Given the description of an element on the screen output the (x, y) to click on. 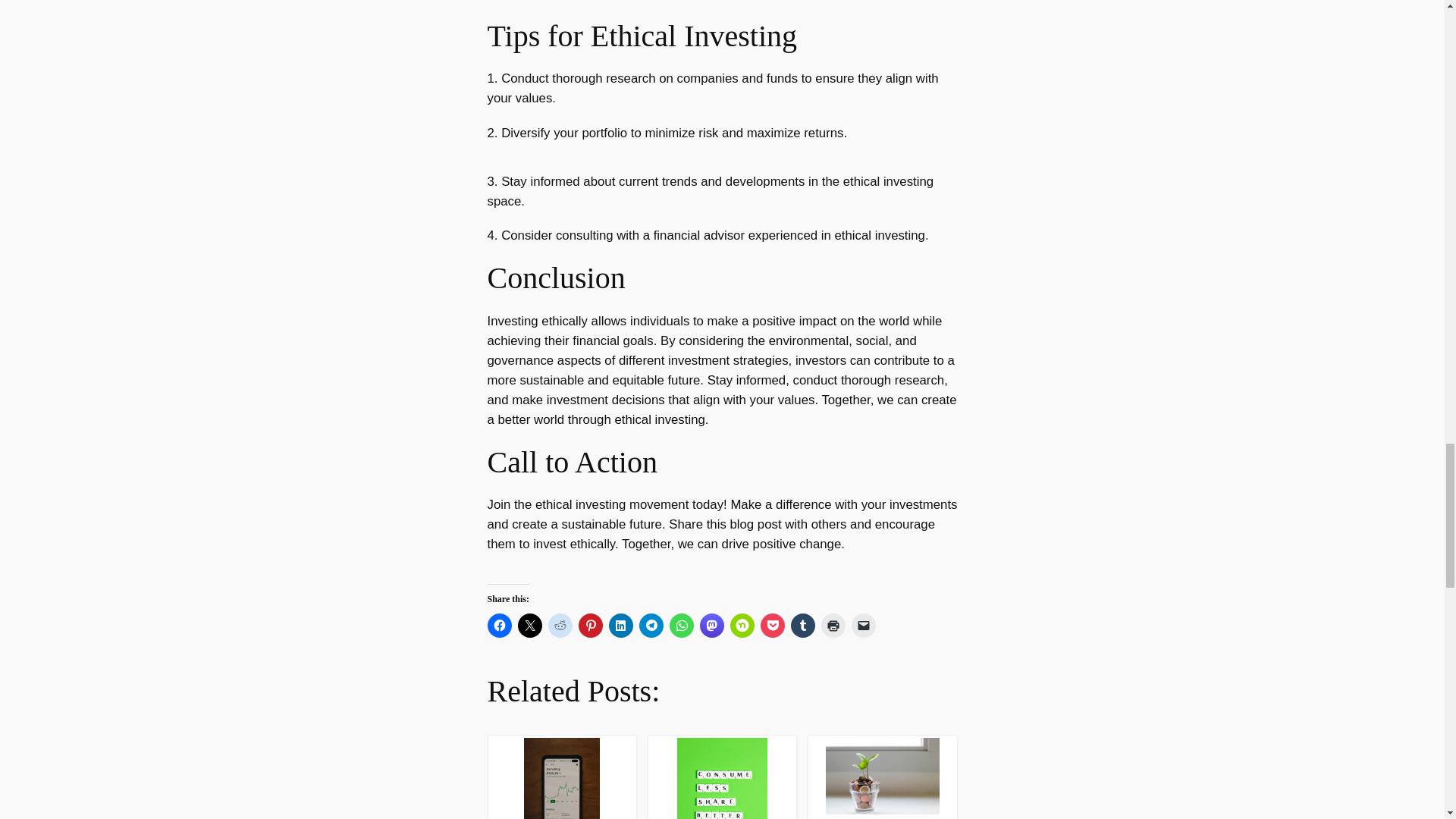
Click to share on Pinterest (590, 625)
Click to share on LinkedIn (619, 625)
Click to share on Telegram (650, 625)
Click to share on WhatsApp (680, 625)
Click to share on Reddit (559, 625)
Click to share on X (528, 625)
Click to share on Facebook (498, 625)
